Given the description of an element on the screen output the (x, y) to click on. 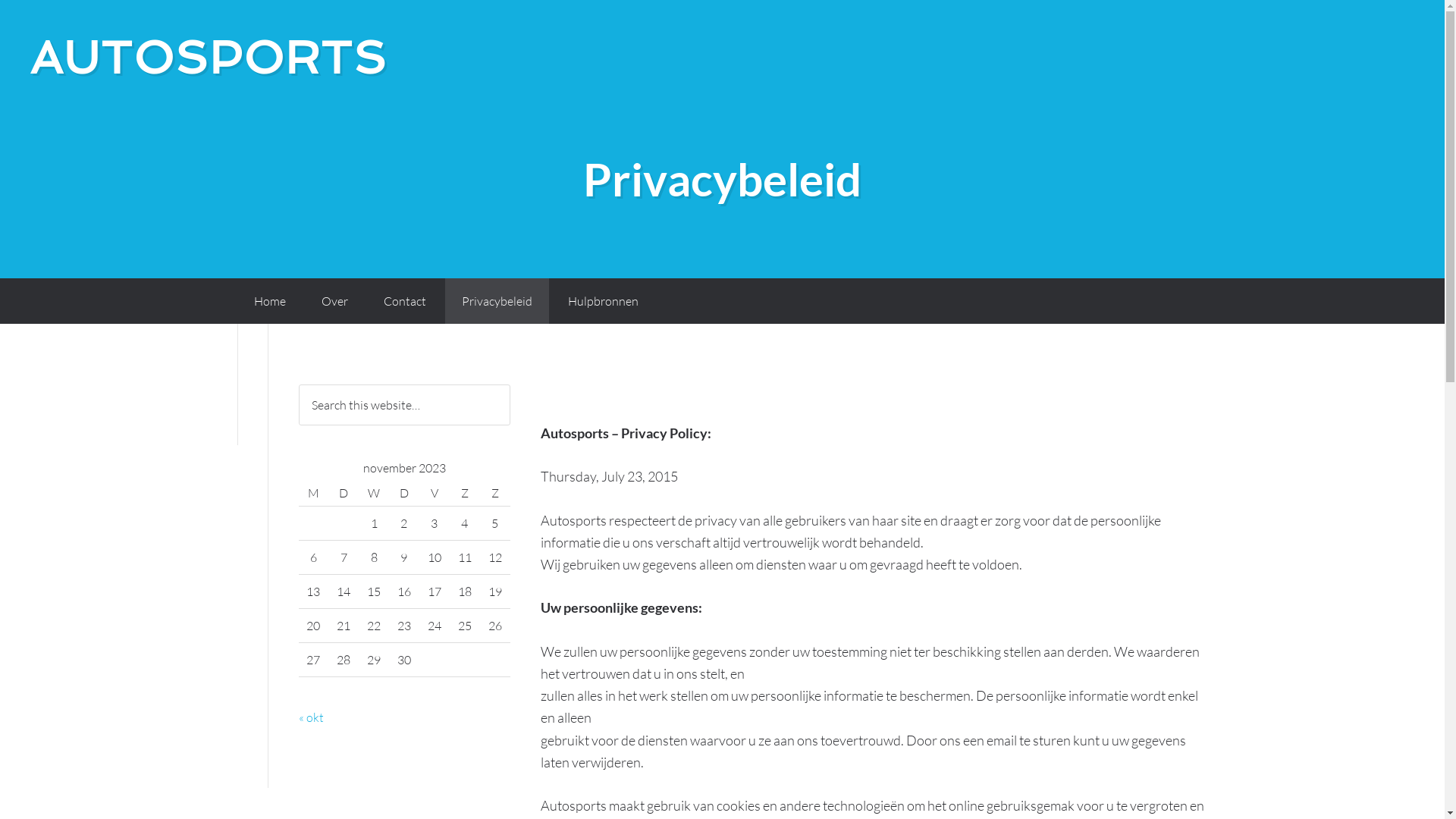
Contact Element type: text (404, 300)
Home Element type: text (268, 300)
Privacybeleid Element type: text (496, 300)
AUTOSPORTS Element type: text (208, 57)
Hulpbronnen Element type: text (602, 300)
Over Element type: text (334, 300)
Search Element type: text (509, 383)
